Given the description of an element on the screen output the (x, y) to click on. 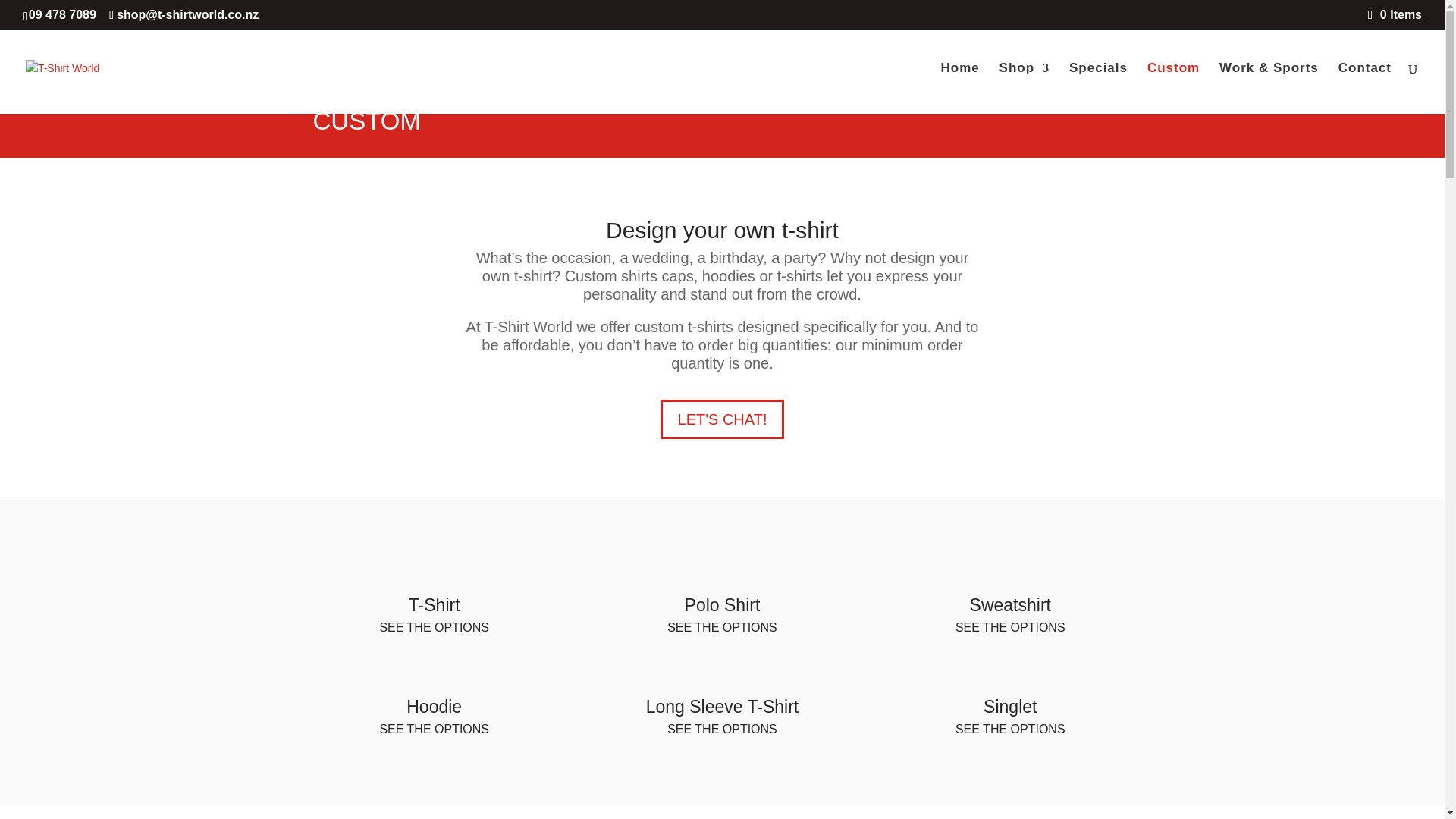
T-Shirt (434, 605)
Specials (1097, 88)
SEE THE OPTIONS (433, 626)
0 Items (1395, 14)
LET'S CHAT! (722, 418)
Shop (1023, 88)
Contact (1364, 88)
Custom (1173, 88)
